Given the description of an element on the screen output the (x, y) to click on. 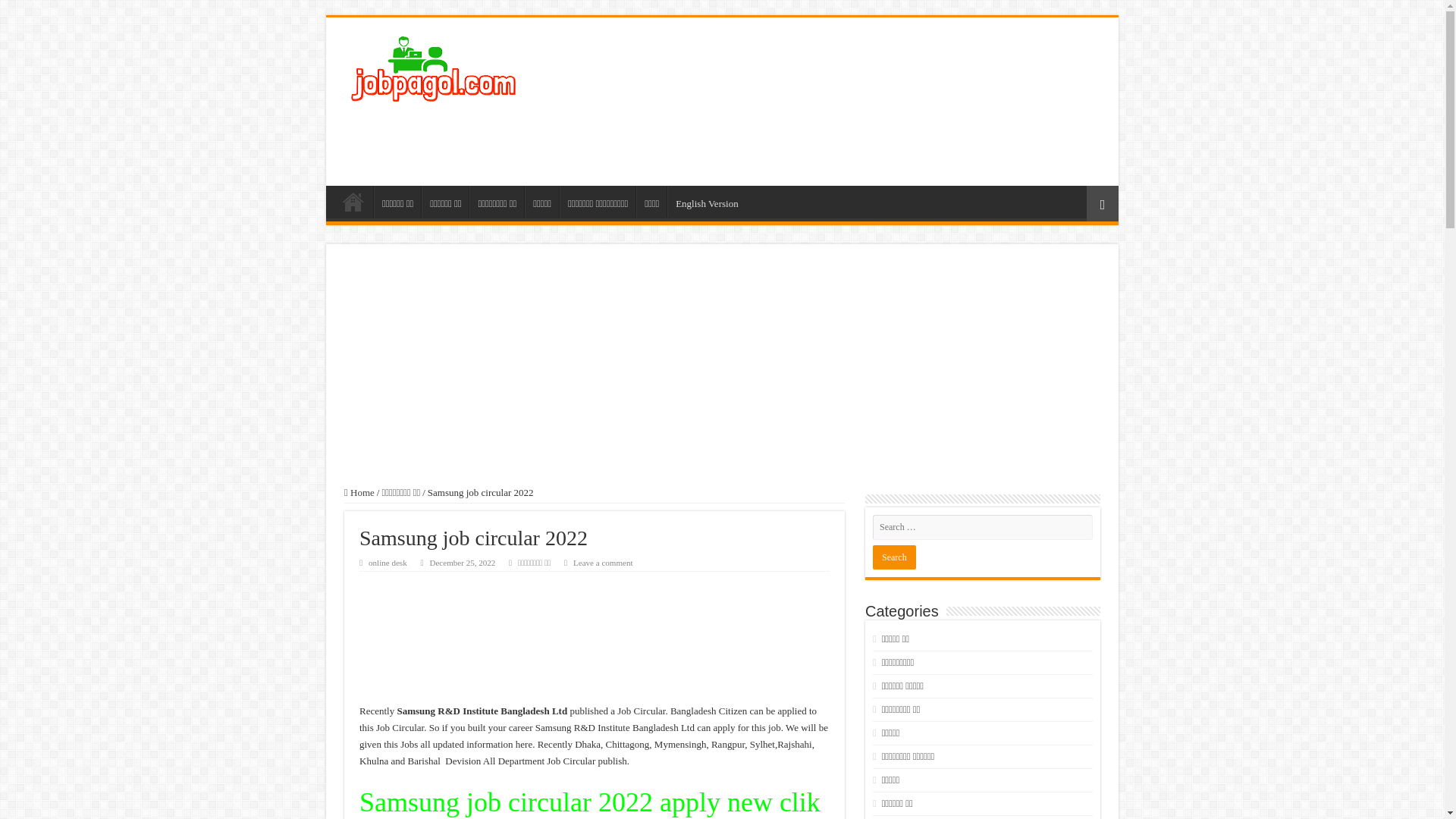
Samsung job circular 2022 apply new clik here (590, 803)
Leave a comment (603, 562)
online desk (387, 562)
English Version (705, 201)
Search (893, 557)
Home (358, 491)
Search (893, 557)
